Given the description of an element on the screen output the (x, y) to click on. 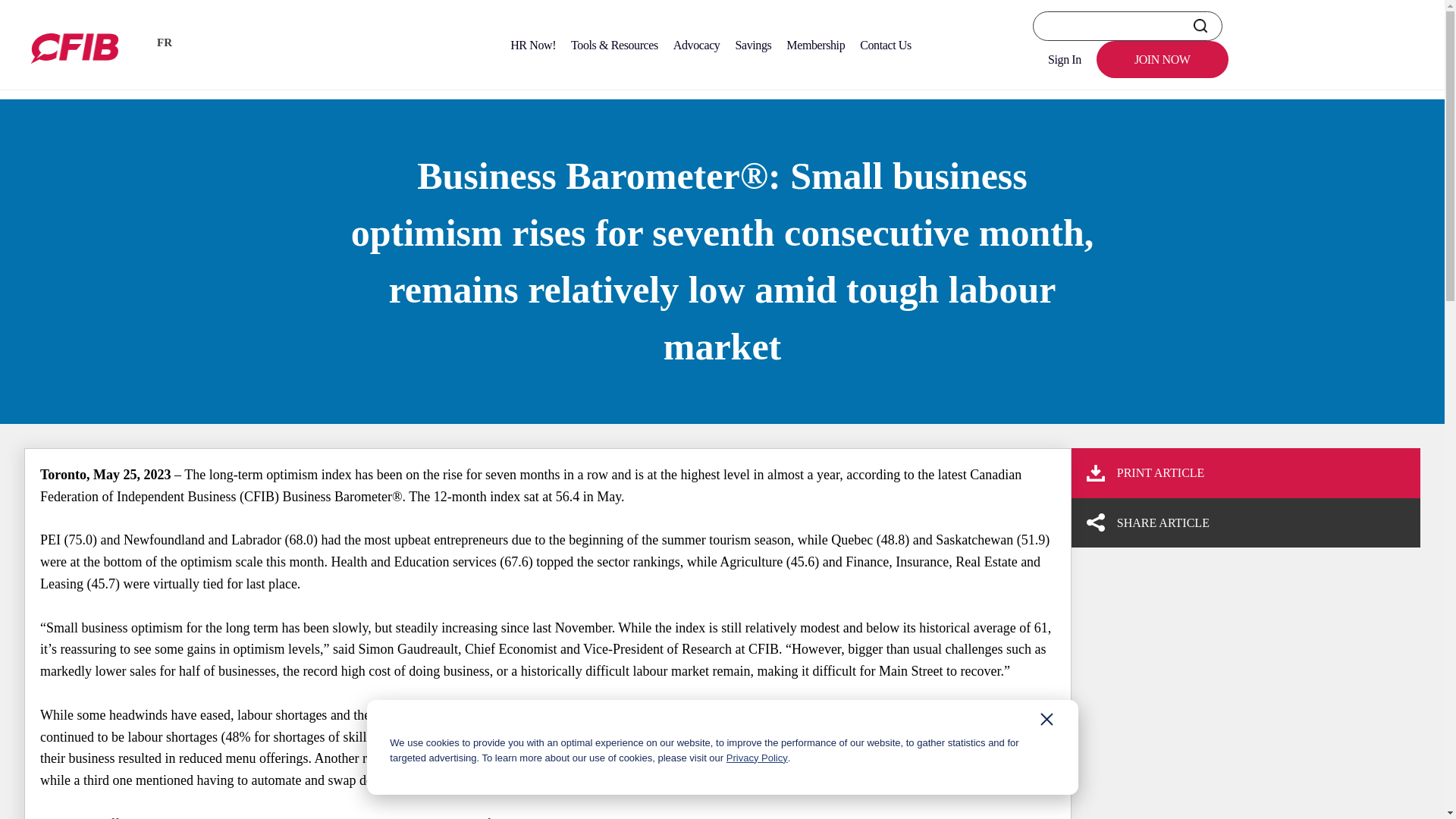
PRINT ARTICLE (1239, 473)
Contact Us (884, 44)
Membership (814, 44)
Media Centre (101, 80)
Advocacy (696, 44)
Search (1200, 25)
Savings (752, 44)
Search (1200, 25)
Sign In (1064, 58)
HR Now! (532, 44)
Home (38, 80)
JOIN NOW (1162, 58)
FR (164, 46)
